Given the description of an element on the screen output the (x, y) to click on. 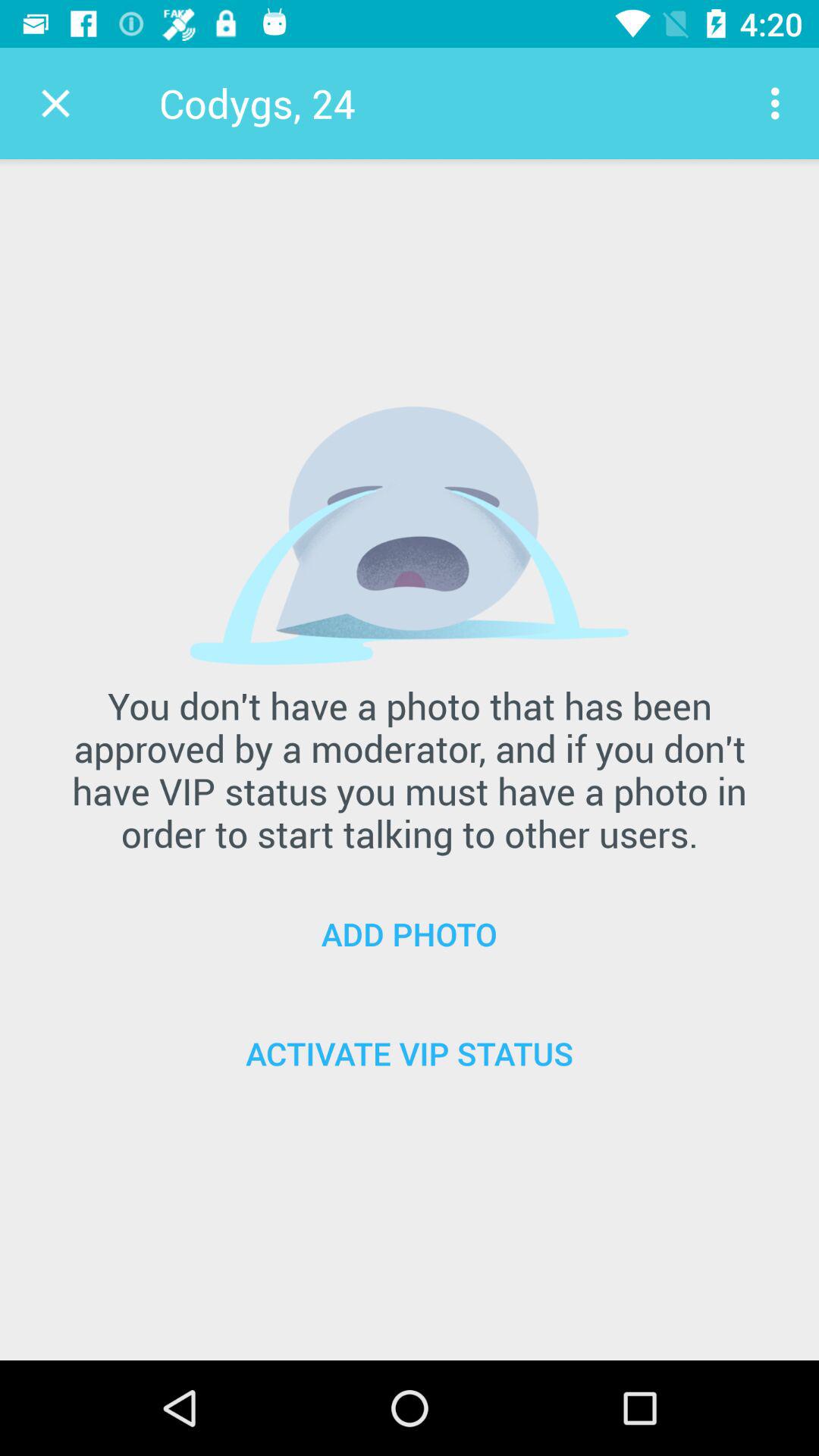
select the item next to the codygs, 24 (779, 103)
